Given the description of an element on the screen output the (x, y) to click on. 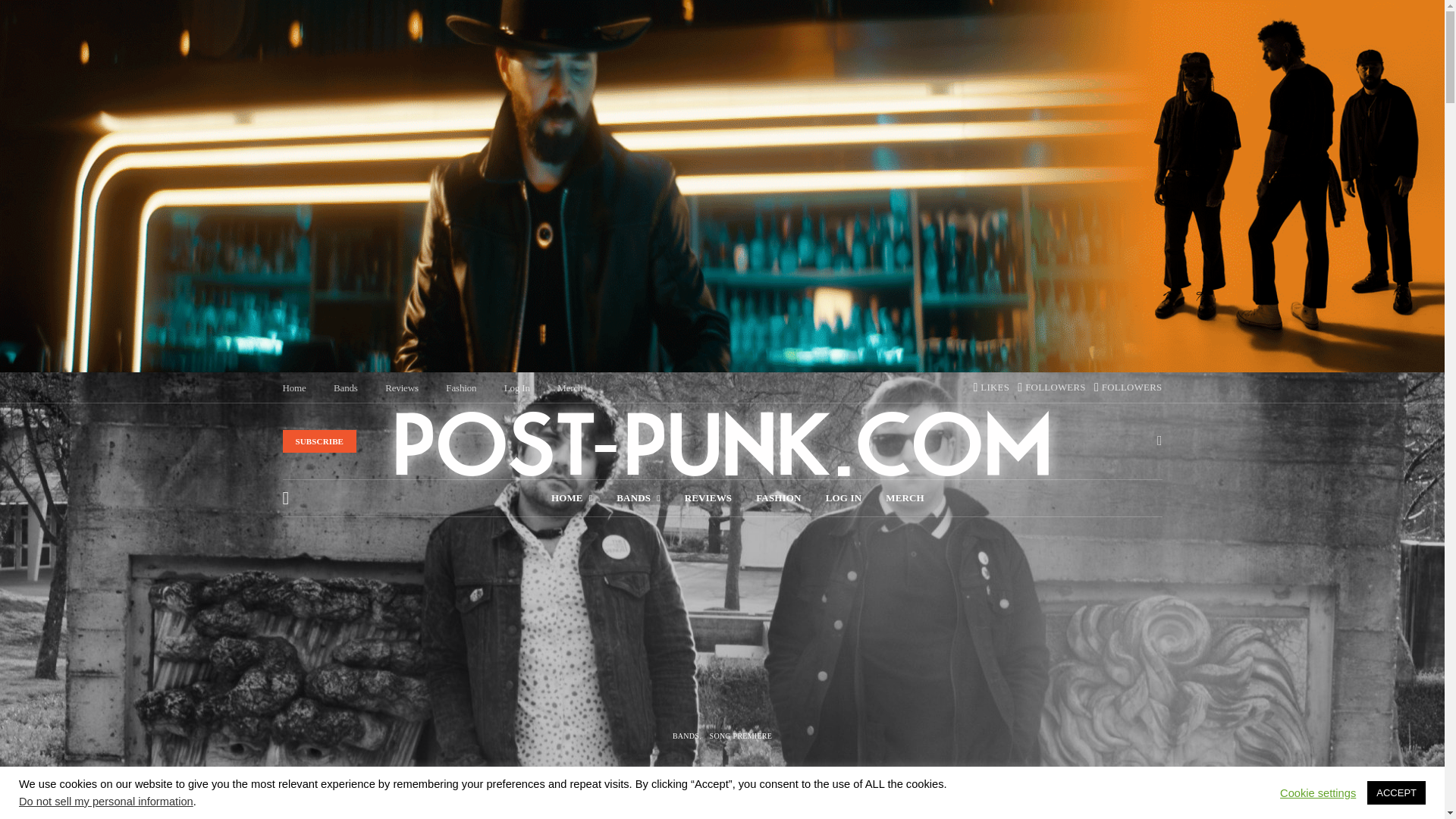
SUBSCRIBE (319, 441)
LIKES (990, 387)
Bands (345, 387)
Home (293, 387)
HOME (571, 497)
Reviews (402, 387)
Bands (345, 387)
Merch (569, 387)
Fashion (460, 387)
FOLLOWERS (1051, 387)
FOLLOWERS (1127, 387)
Log In (516, 387)
BANDS (637, 497)
REVIEWS (708, 497)
Bands (637, 497)
